Given the description of an element on the screen output the (x, y) to click on. 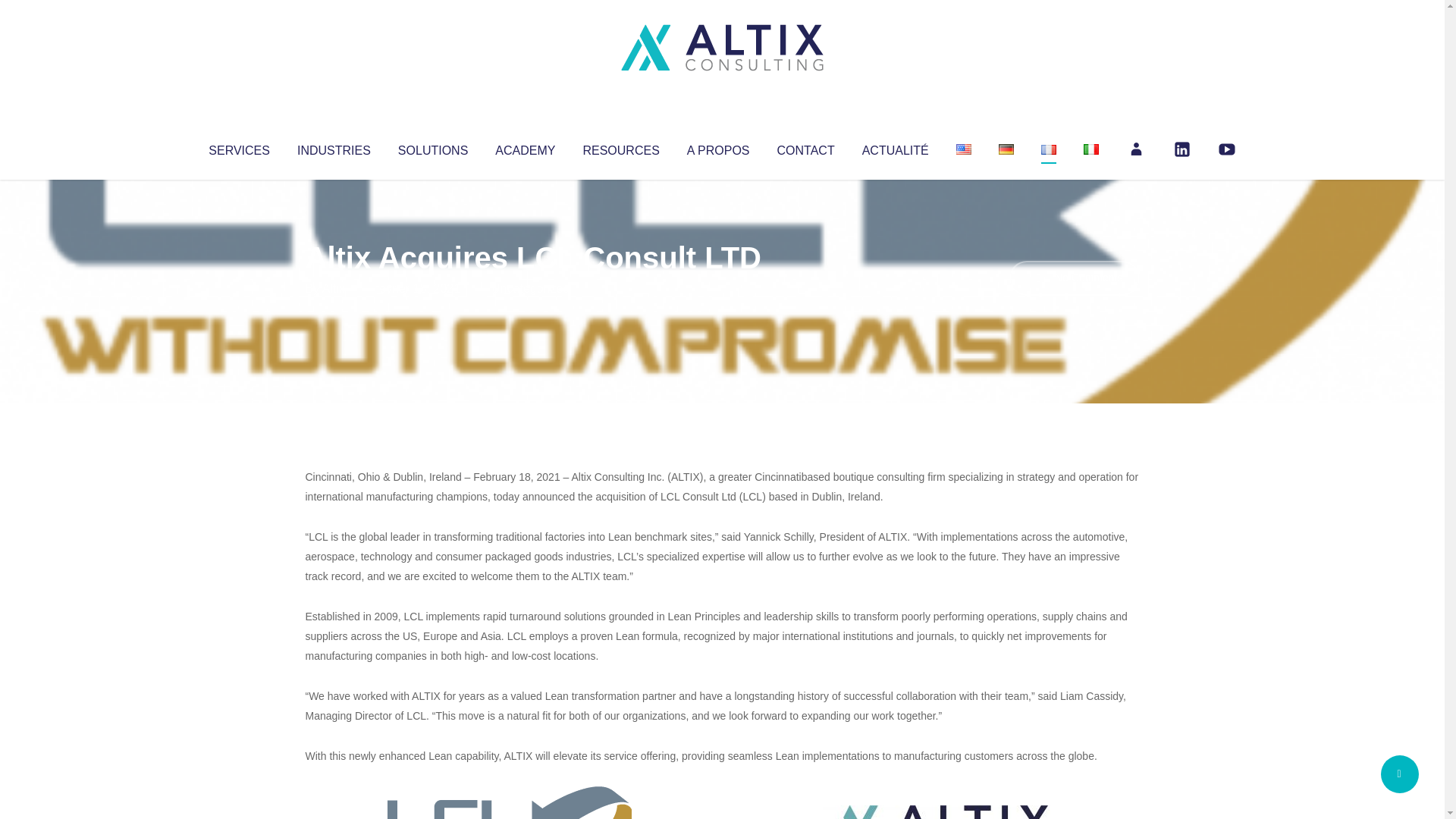
Uncategorized (530, 287)
RESOURCES (620, 146)
SERVICES (238, 146)
Altix (333, 287)
SOLUTIONS (432, 146)
A PROPOS (718, 146)
ACADEMY (524, 146)
Articles par Altix (333, 287)
INDUSTRIES (334, 146)
No Comments (1073, 278)
